Given the description of an element on the screen output the (x, y) to click on. 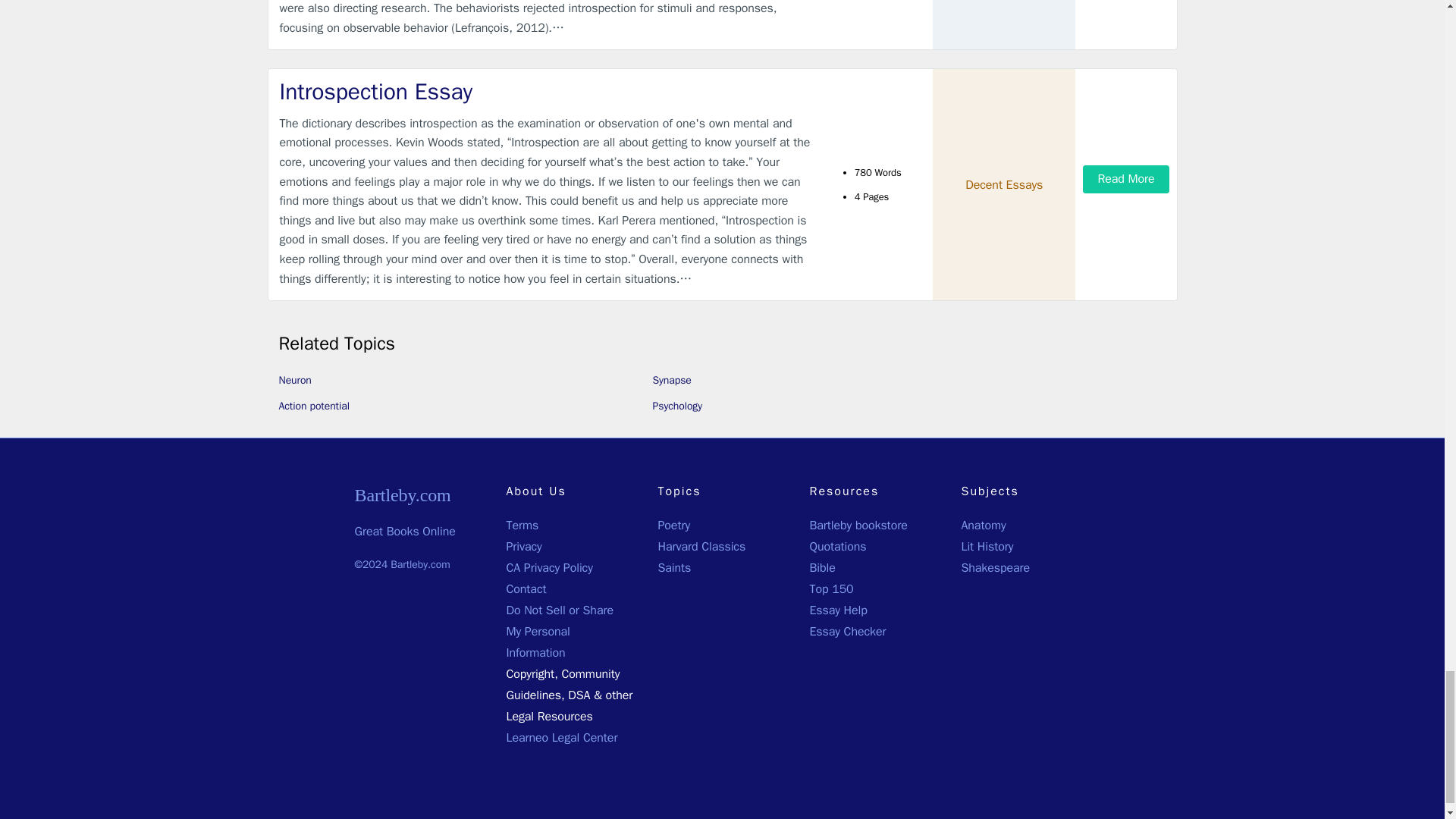
Action potential (314, 405)
Neuron (295, 379)
Synapse (671, 379)
Psychology (676, 405)
